Given the description of an element on the screen output the (x, y) to click on. 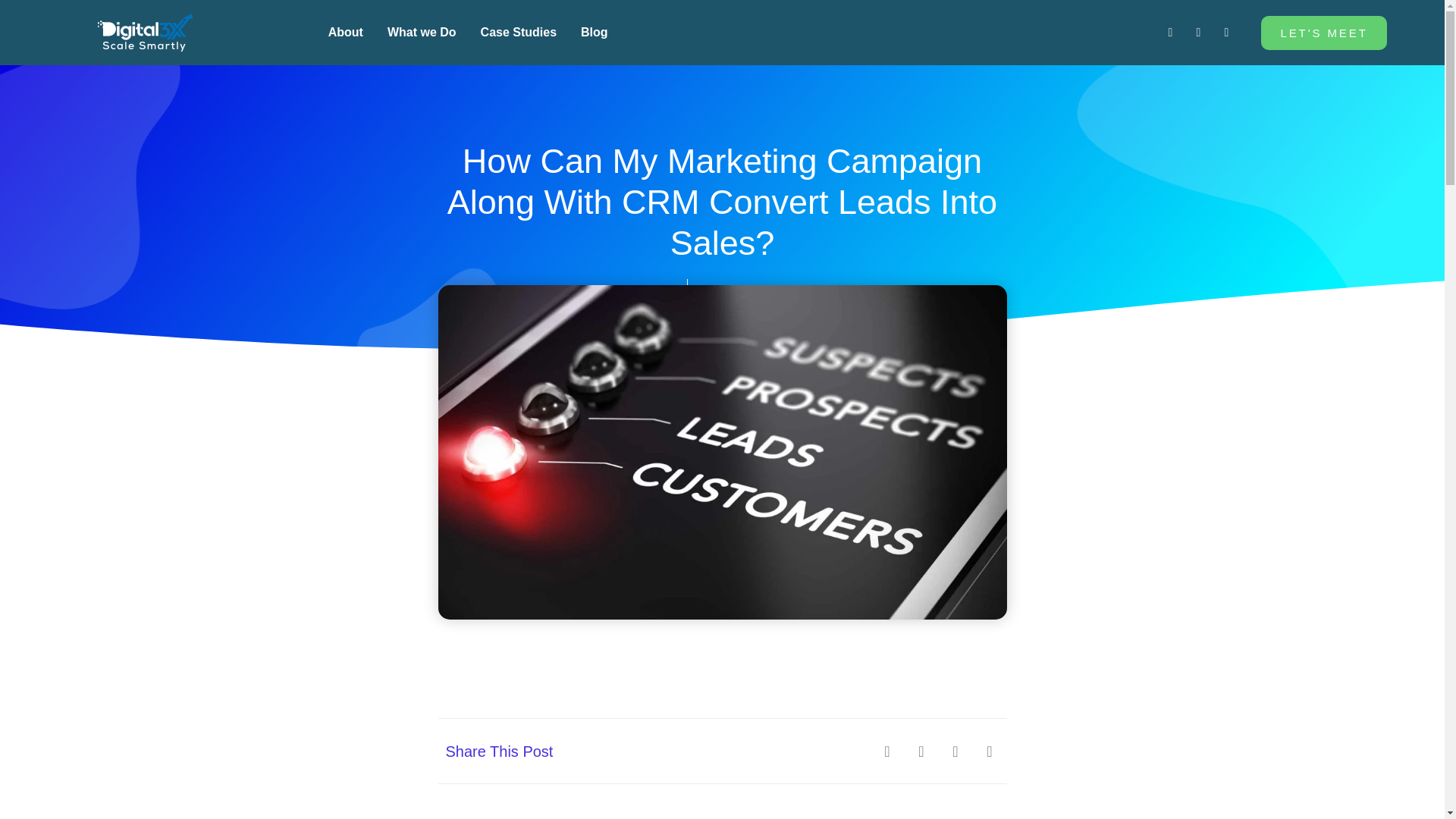
Blog (594, 32)
Case Studies (518, 32)
Alex (656, 290)
Twitter (1197, 32)
LET'S MEET (1323, 32)
What we Do (422, 32)
January 18, 2023 (753, 290)
About (345, 32)
Linkedin (1169, 32)
Digital3x sfa (144, 32)
Facebook (1226, 32)
